Given the description of an element on the screen output the (x, y) to click on. 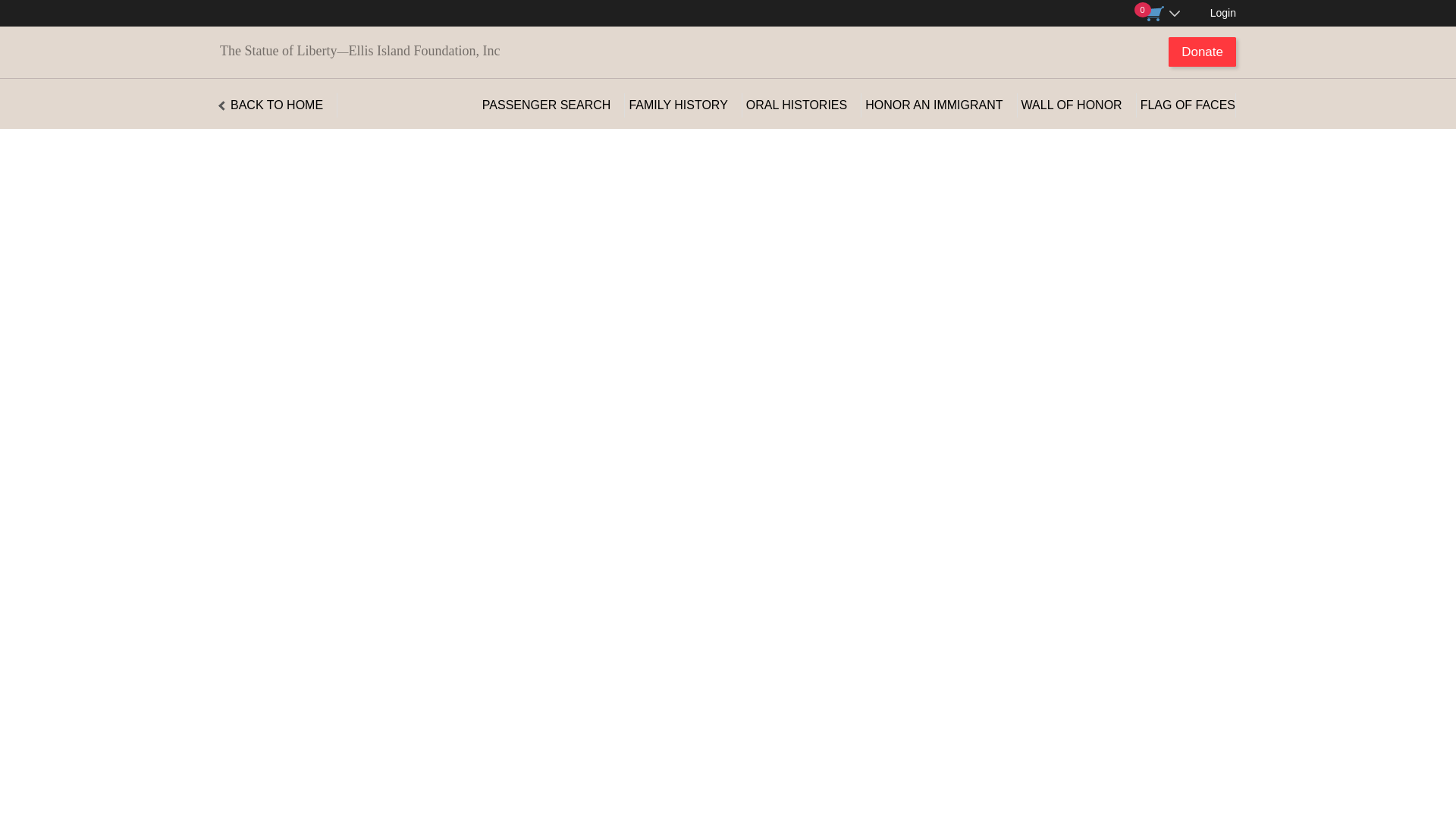
FLAG OF FACES (1187, 104)
Wall of Honor (1072, 104)
Back to Home (271, 104)
Login (1222, 12)
FAMILY HISTORY (677, 104)
Family History (677, 104)
WALL OF HONOR (1072, 104)
Flag of Faces (1187, 104)
Donate (1202, 51)
BACK TO HOME (271, 104)
